Given the description of an element on the screen output the (x, y) to click on. 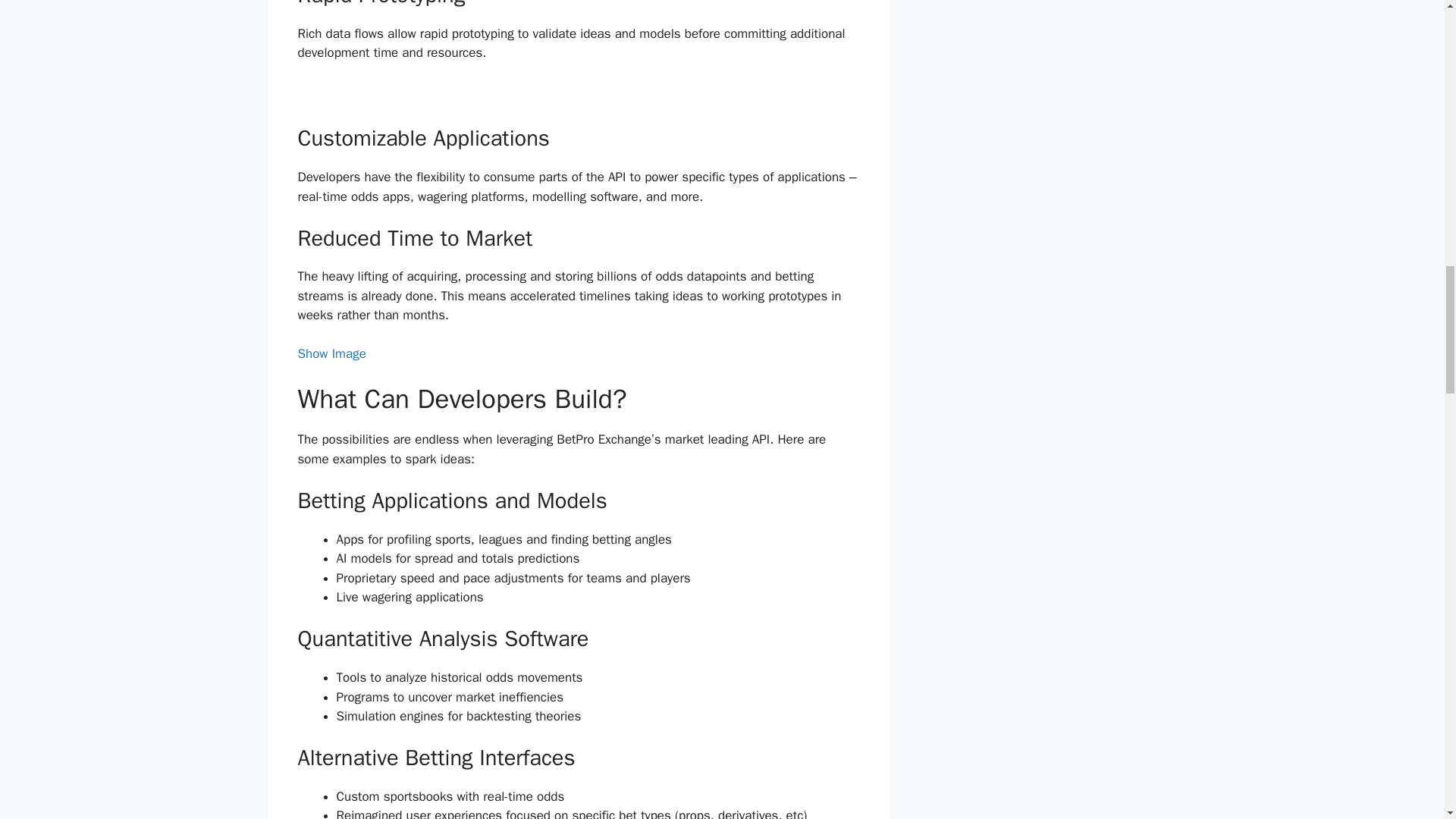
Show Image (331, 353)
